Given the description of an element on the screen output the (x, y) to click on. 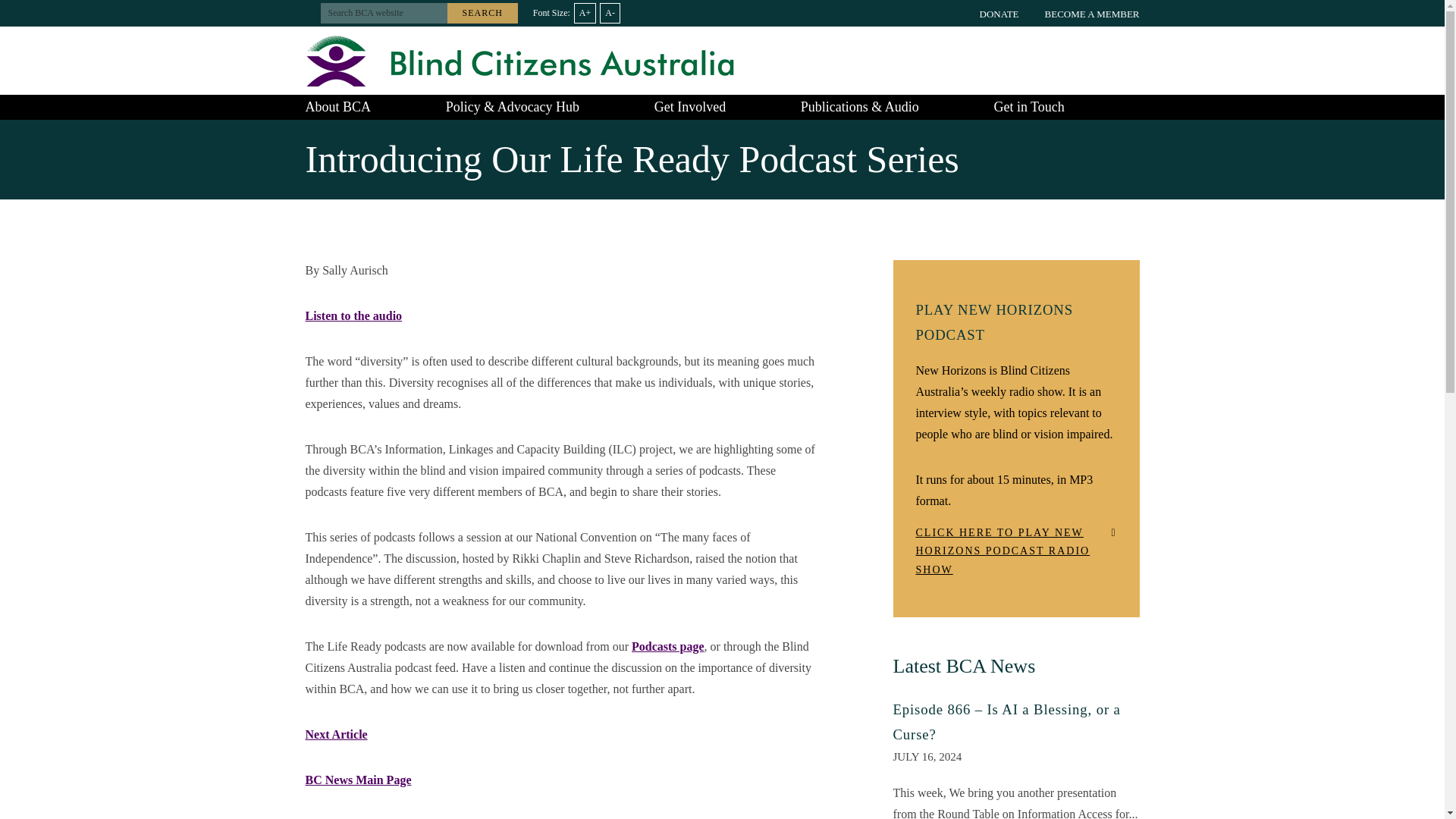
SEARCH (482, 13)
DONATE (999, 13)
A- (609, 13)
Search BCA website (383, 13)
BECOME A MEMBER (1092, 13)
